Given the description of an element on the screen output the (x, y) to click on. 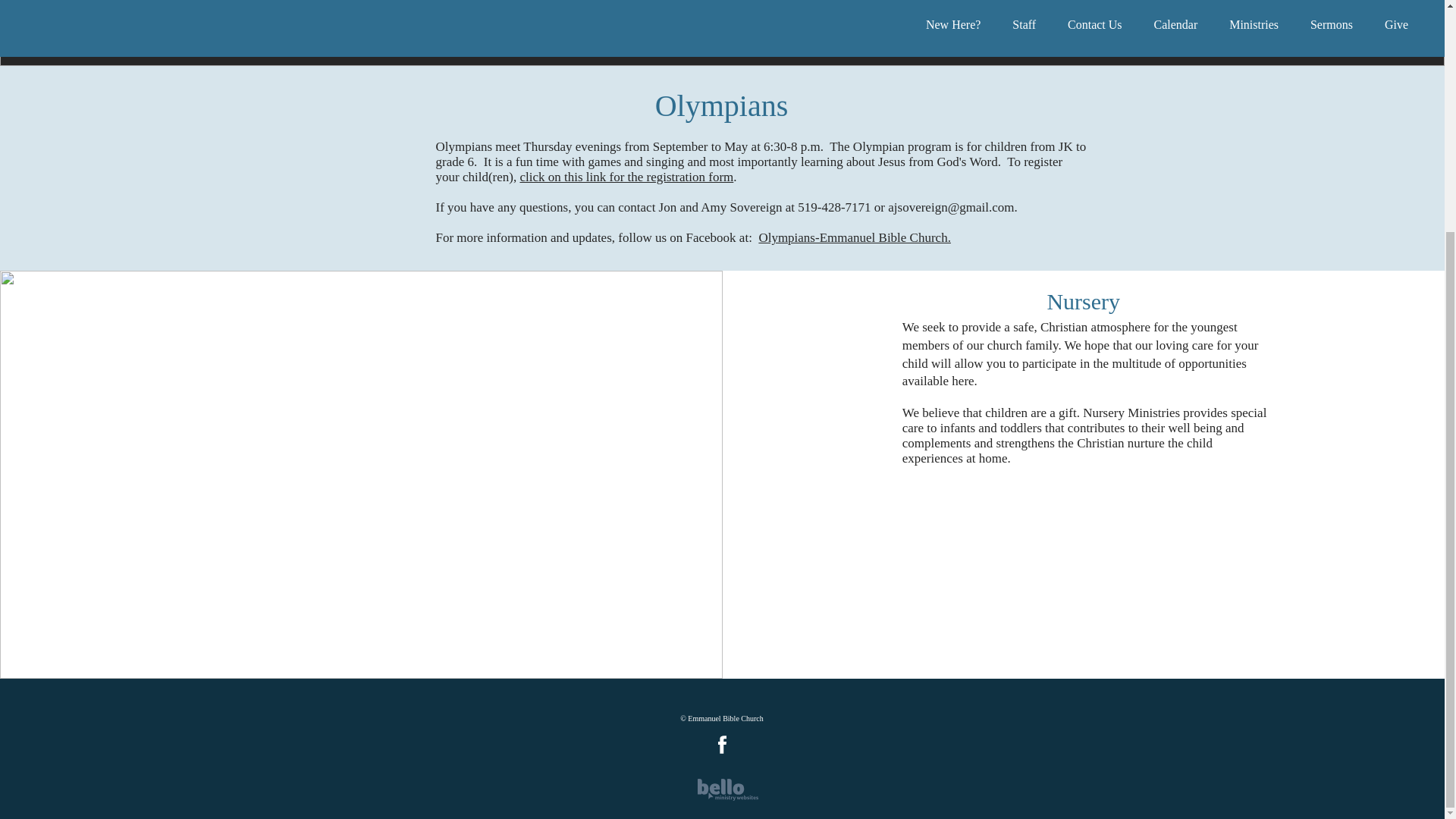
Olympians-Emmanuel Bible Church. (854, 237)
click on this link for the registration form (626, 176)
